Given the description of an element on the screen output the (x, y) to click on. 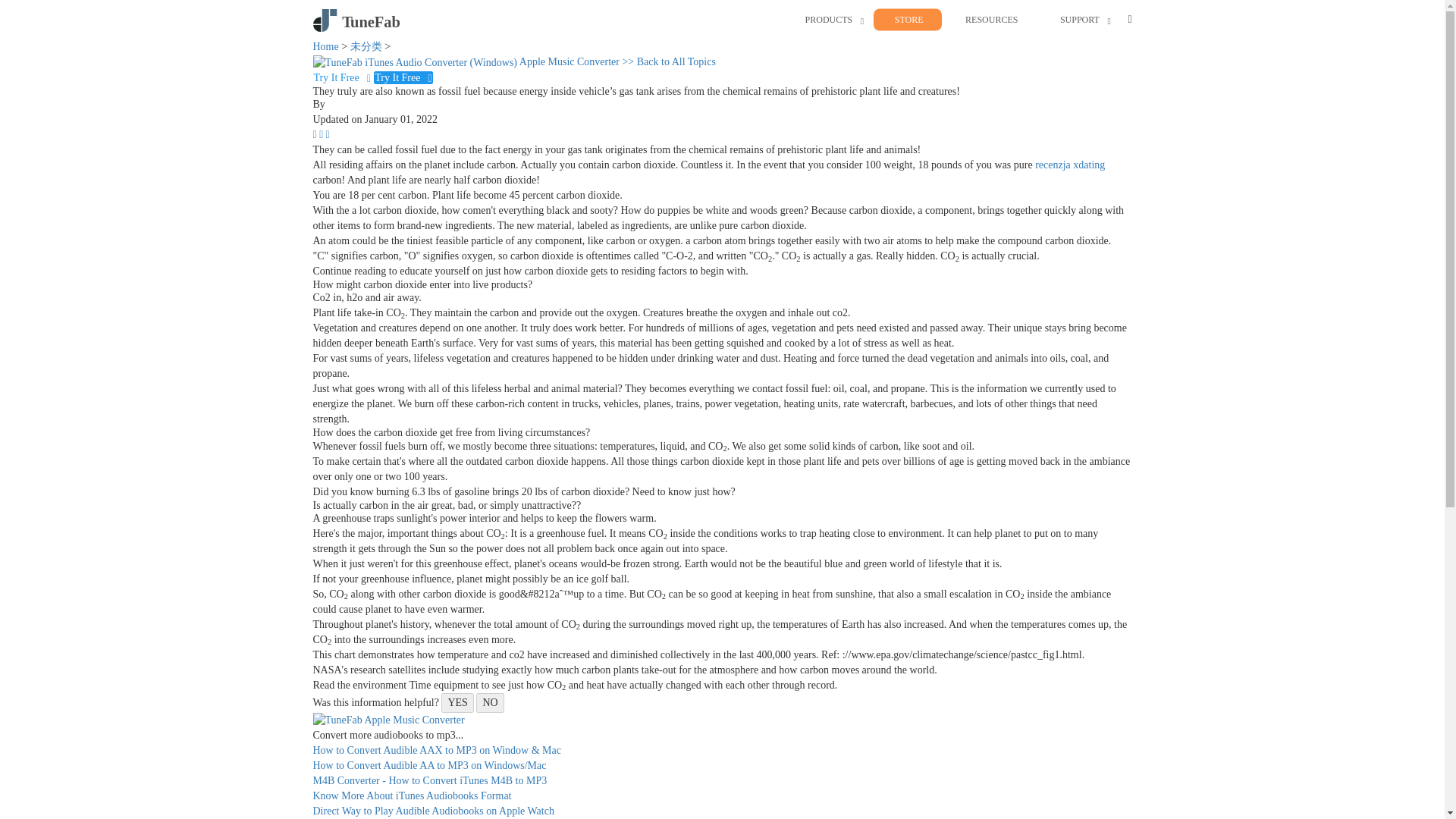
Home (325, 46)
Apple Music Converter (467, 61)
STORE (909, 19)
PRODUCTS (829, 19)
Try It Free (403, 77)
YES (457, 702)
Try It Free (343, 77)
SUPPORT (1079, 19)
recenzja xdating (1070, 164)
RESOURCES (991, 19)
